Given the description of an element on the screen output the (x, y) to click on. 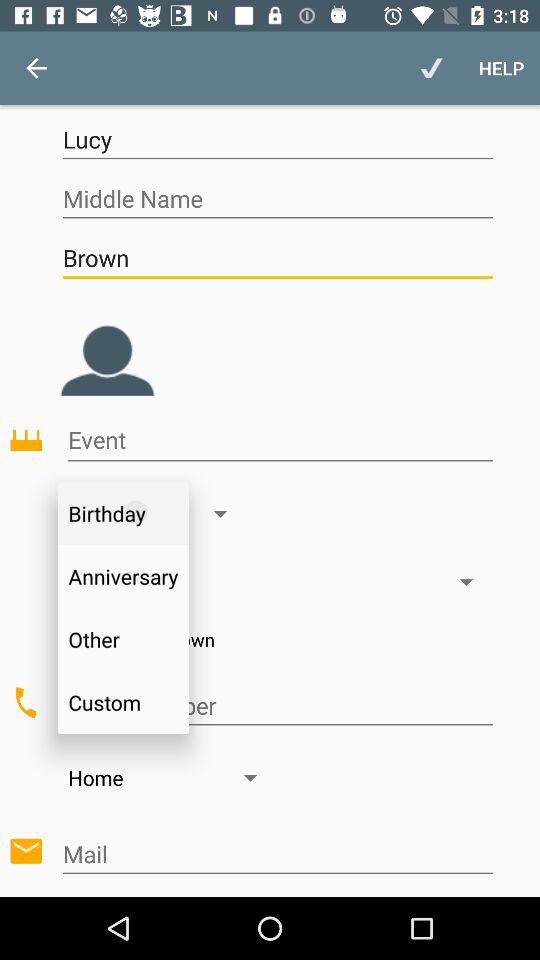
tap item below home item (277, 854)
